Given the description of an element on the screen output the (x, y) to click on. 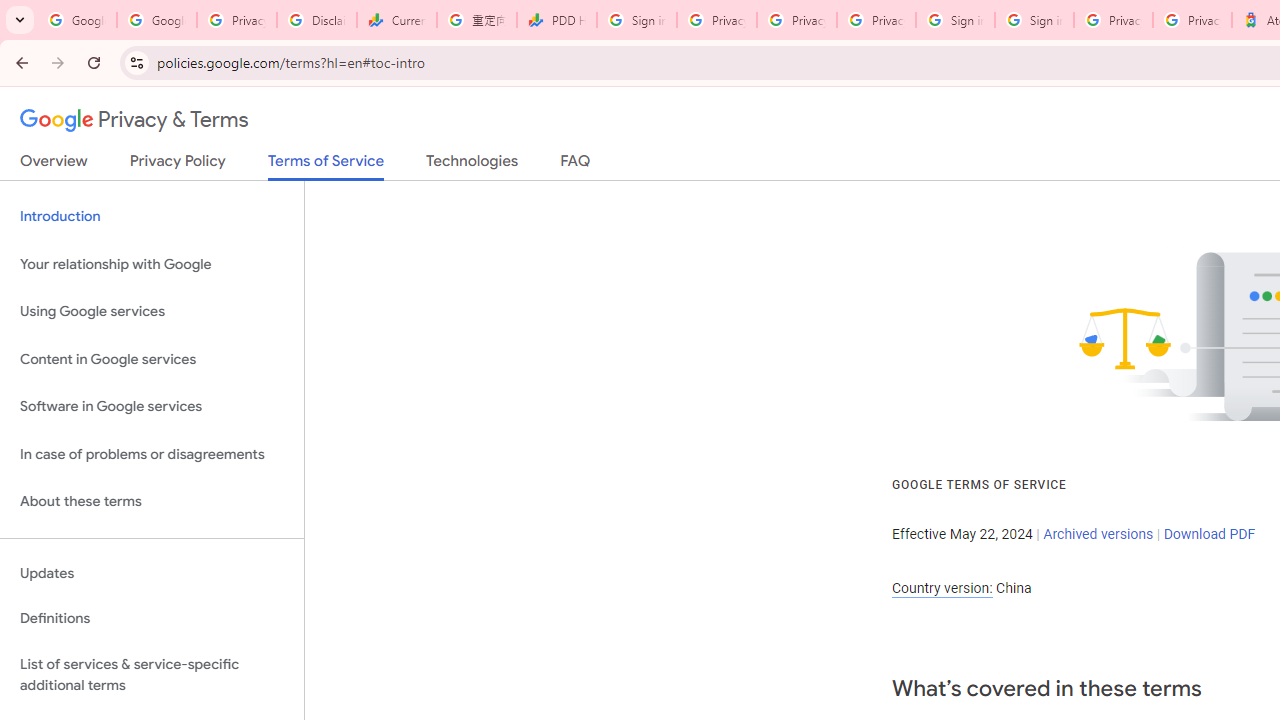
Sign in - Google Accounts (955, 20)
Privacy Checkup (796, 20)
Privacy Checkup (876, 20)
Your relationship with Google (152, 263)
PDD Holdings Inc - ADR (PDD) Price & News - Google Finance (556, 20)
Definitions (152, 619)
Sign in - Google Accounts (1033, 20)
